Given the description of an element on the screen output the (x, y) to click on. 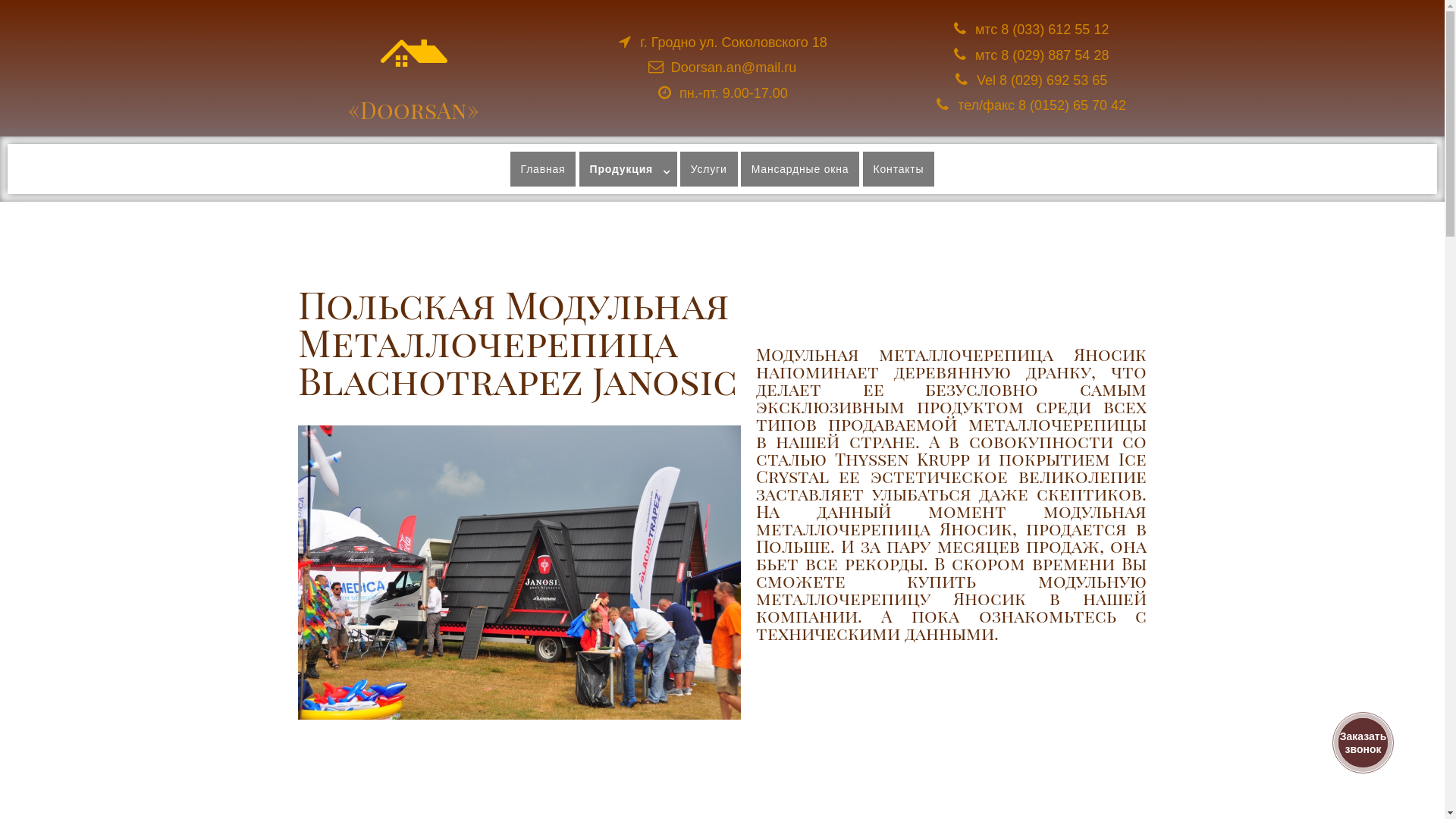
Roof.png Element type: hover (413, 53)
